Given the description of an element on the screen output the (x, y) to click on. 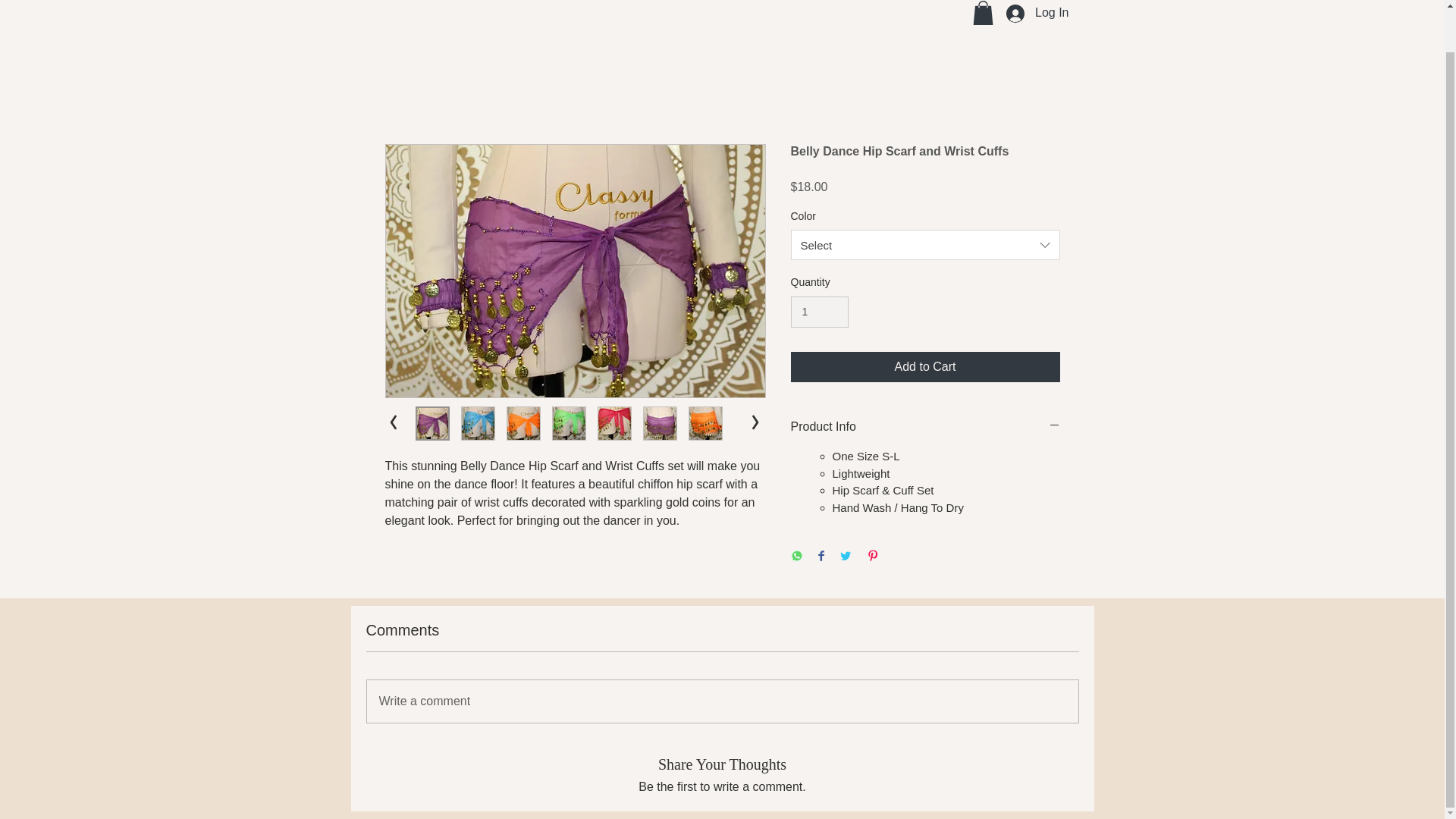
Shop (838, 5)
1 (818, 311)
Home (502, 5)
About (626, 5)
Select (924, 245)
Contact (684, 5)
Instructor (566, 5)
Add to Cart (924, 367)
Log In (1036, 13)
Blog (887, 5)
Product Info (924, 426)
Write a comment (722, 701)
